Given the description of an element on the screen output the (x, y) to click on. 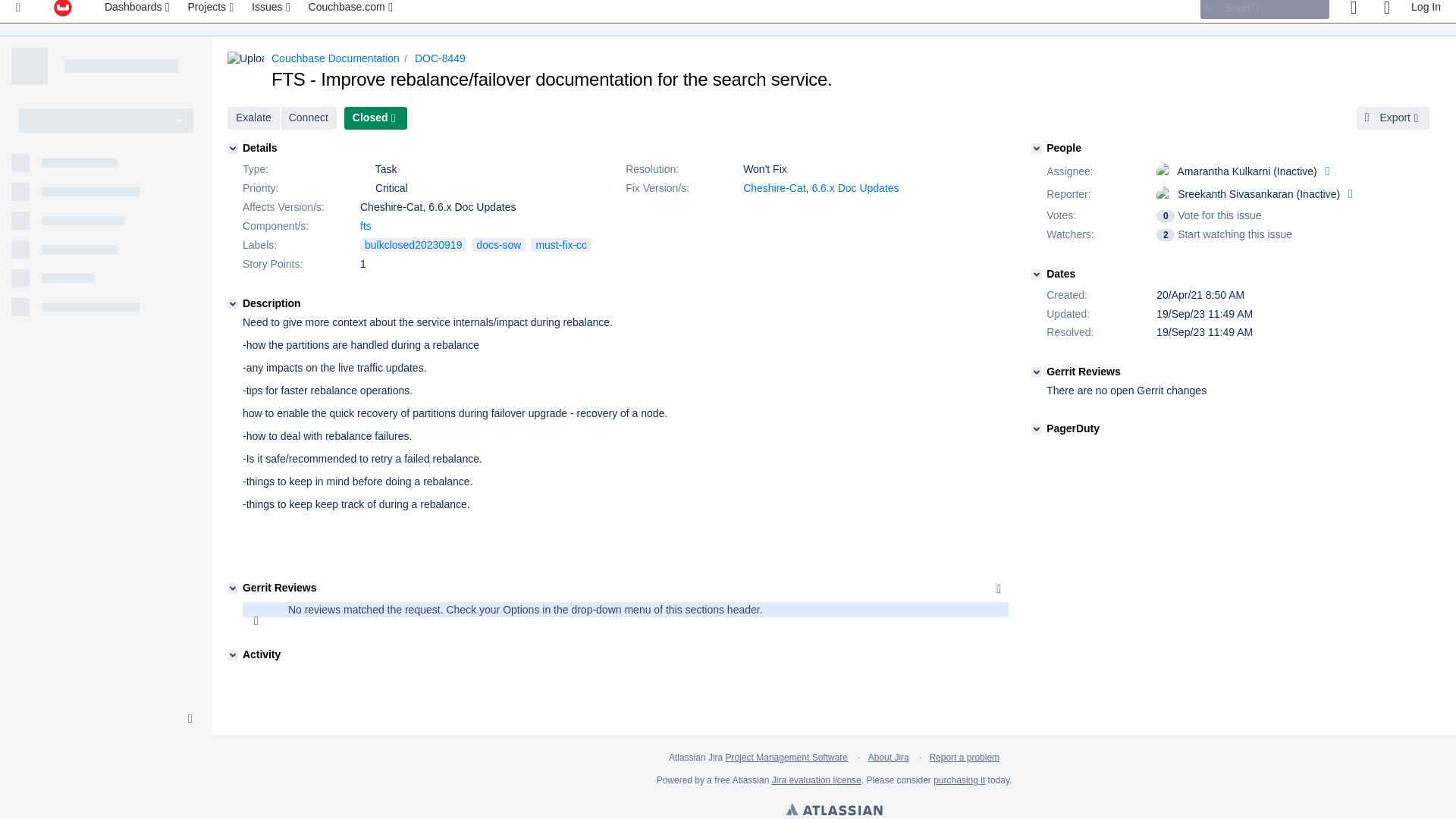
Search for issues and view recent issues (271, 11)
Dashboards (138, 11)
Export this issue in another format (1392, 118)
fts (365, 225)
Exalate (253, 118)
must-fix-cc (561, 244)
Resolution (682, 169)
Cheshire-Cat (773, 187)
Help (1386, 11)
Linked Applications (18, 11)
Issues (271, 11)
Search (1264, 9)
Type (299, 169)
bulkclosed20230919 (412, 244)
View and manage your dashboards (138, 11)
